Given the description of an element on the screen output the (x, y) to click on. 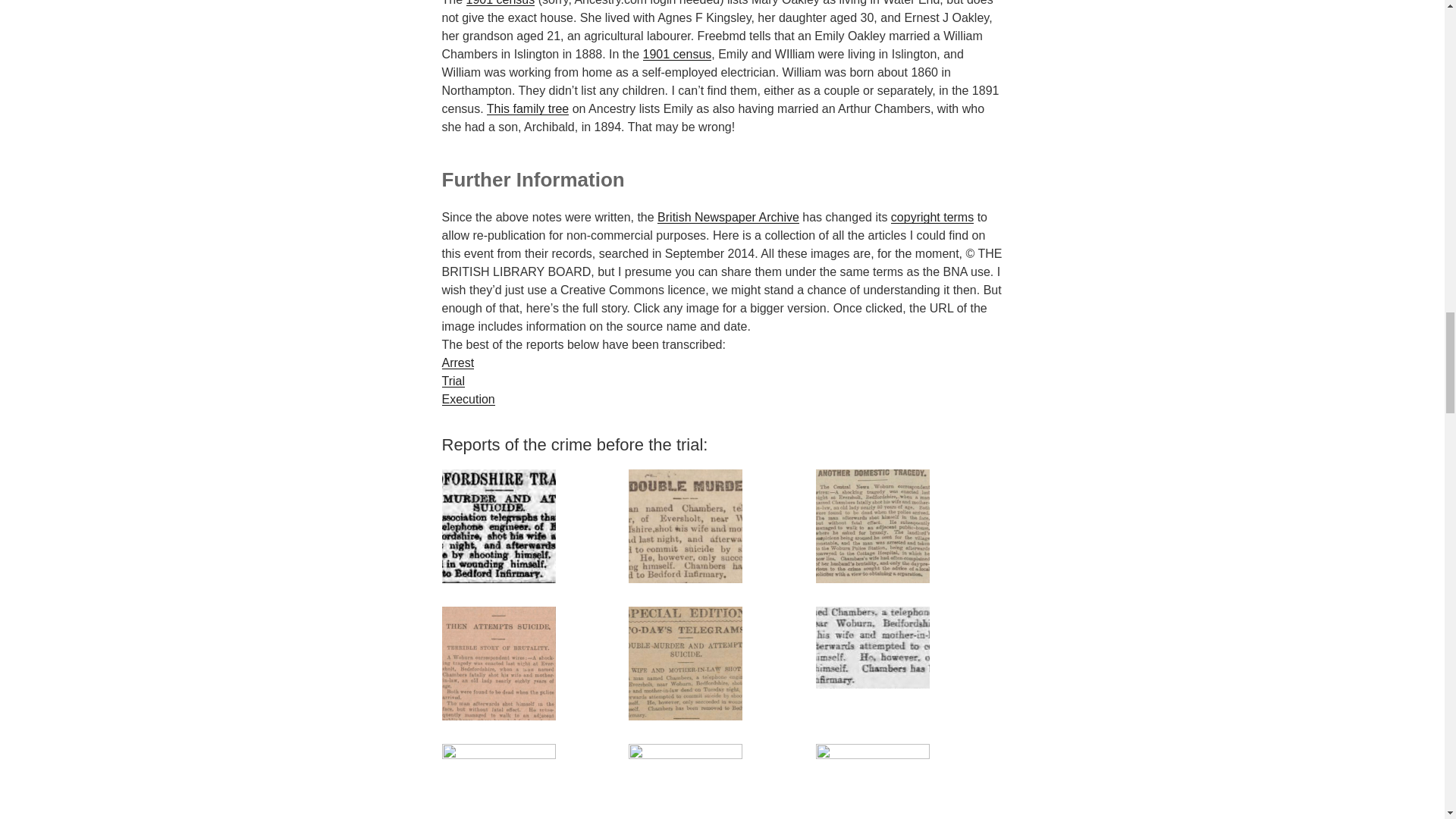
1901 census (677, 53)
Execution (468, 399)
Arrest (457, 362)
1901 census (500, 2)
This family tree (527, 108)
British Newspaper Archive (728, 216)
Trial (452, 380)
copyright terms (932, 216)
